Given the description of an element on the screen output the (x, y) to click on. 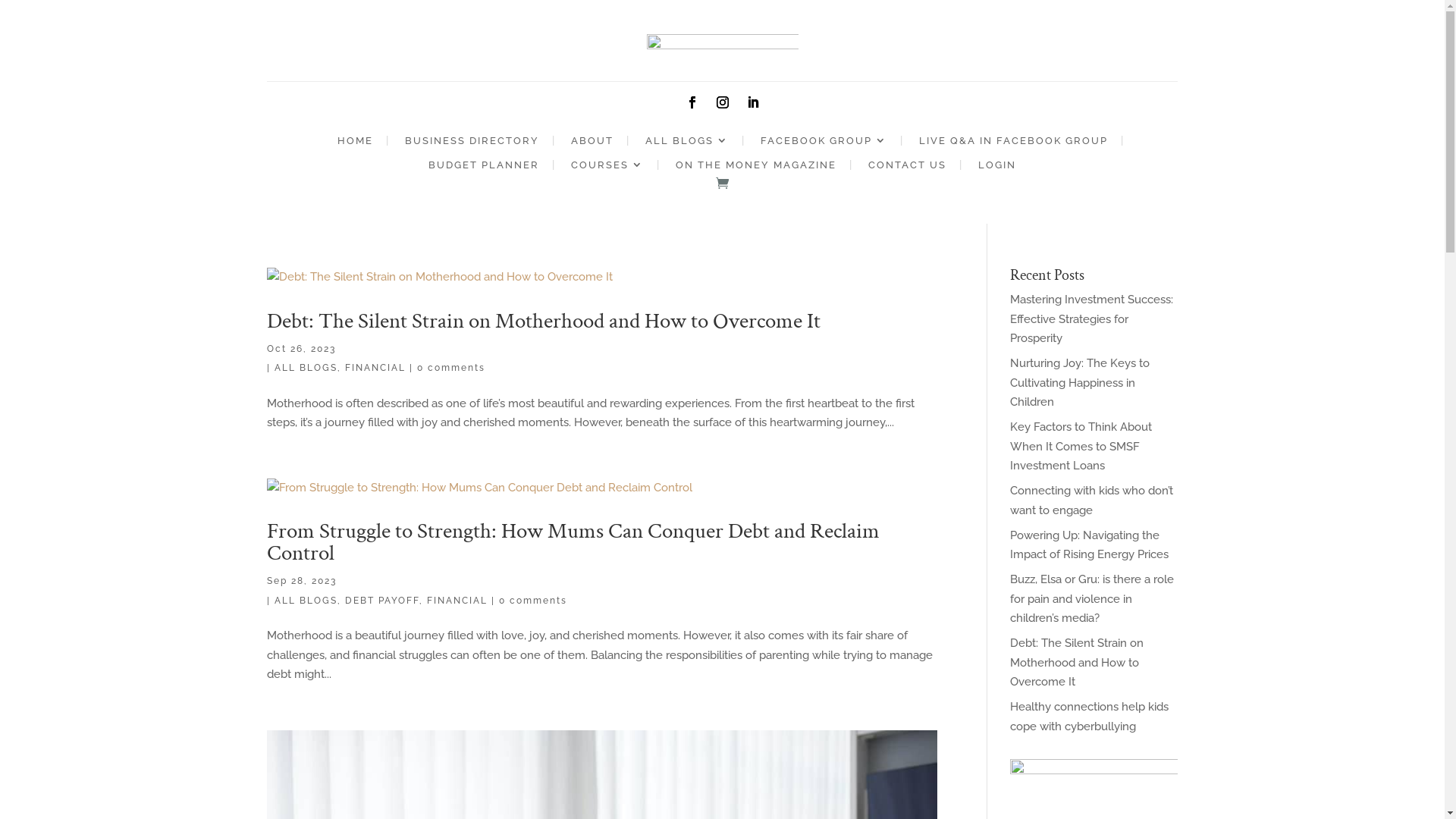
ALL BLOGS Element type: text (686, 143)
BUDGET PLANNER Element type: text (483, 168)
DEBT PAYOFF Element type: text (382, 600)
HOME Element type: text (354, 143)
Debt: The Silent Strain on Motherhood and How to Overcome It Element type: text (543, 320)
Nurturing Joy: The Keys to Cultivating Happiness in Children Element type: text (1079, 382)
Debt: The Silent Strain on Motherhood and How to Overcome It Element type: text (1076, 662)
Follow on Facebook Element type: hover (691, 102)
FACEBOOK GROUP Element type: text (822, 143)
ABOUT Element type: text (591, 143)
ALL BLOGS Element type: text (305, 367)
0 comments Element type: text (532, 600)
Follow on Instagram Element type: hover (721, 102)
MUMCFOs-logo Element type: hover (721, 54)
LOGIN Element type: text (997, 168)
FINANCIAL Element type: text (456, 600)
BUSINESS DIRECTORY Element type: text (471, 143)
CONTACT US Element type: text (907, 168)
Powering Up: Navigating the Impact of Rising Energy Prices Element type: text (1089, 544)
LIVE Q&A IN FACEBOOK GROUP Element type: text (1013, 143)
FINANCIAL Element type: text (375, 367)
Follow on LinkedIn Element type: hover (752, 102)
Healthy connections help kids cope with cyberbullying Element type: text (1089, 716)
ON THE MONEY MAGAZINE Element type: text (755, 168)
0 comments Element type: text (451, 367)
ALL BLOGS Element type: text (305, 600)
COURSES Element type: text (607, 168)
